Given the description of an element on the screen output the (x, y) to click on. 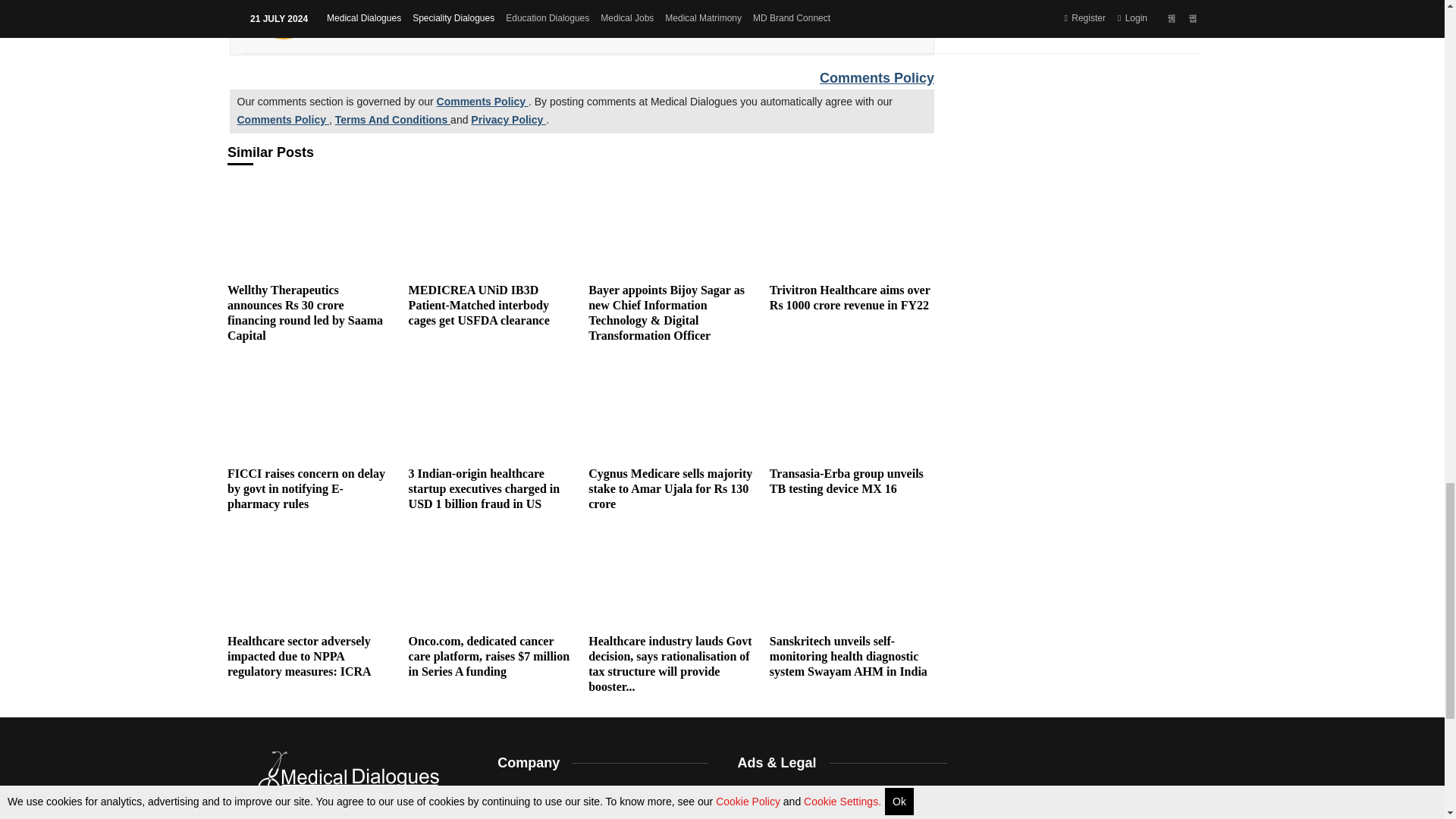
Geeta Sharma Sharma (283, 19)
Trivitron Healthcare aims over Rs 1000 crore revenue in FY22 (853, 232)
